Given the description of an element on the screen output the (x, y) to click on. 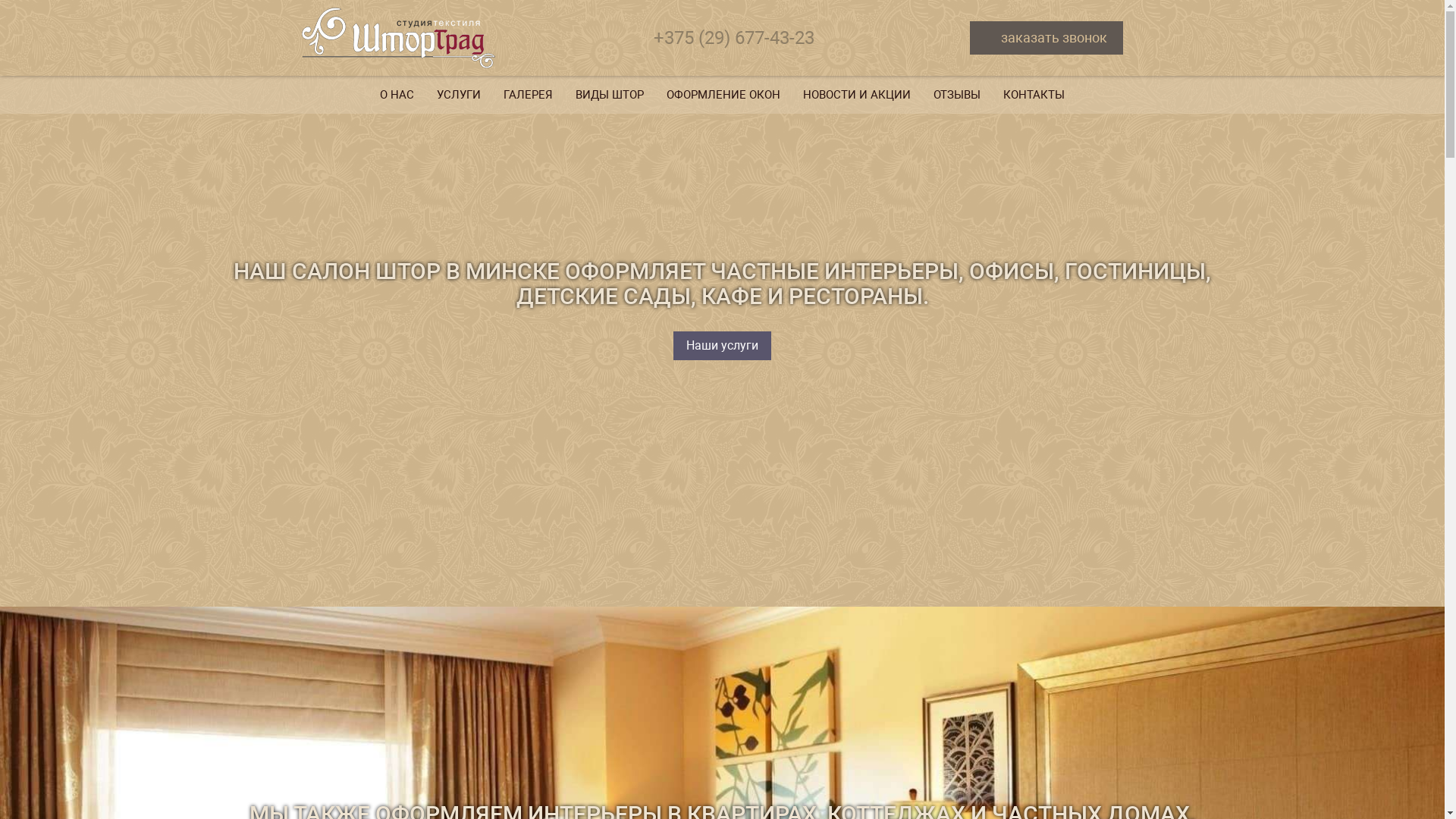
+375 (29) 677-43-23 Element type: text (733, 37)
